Given the description of an element on the screen output the (x, y) to click on. 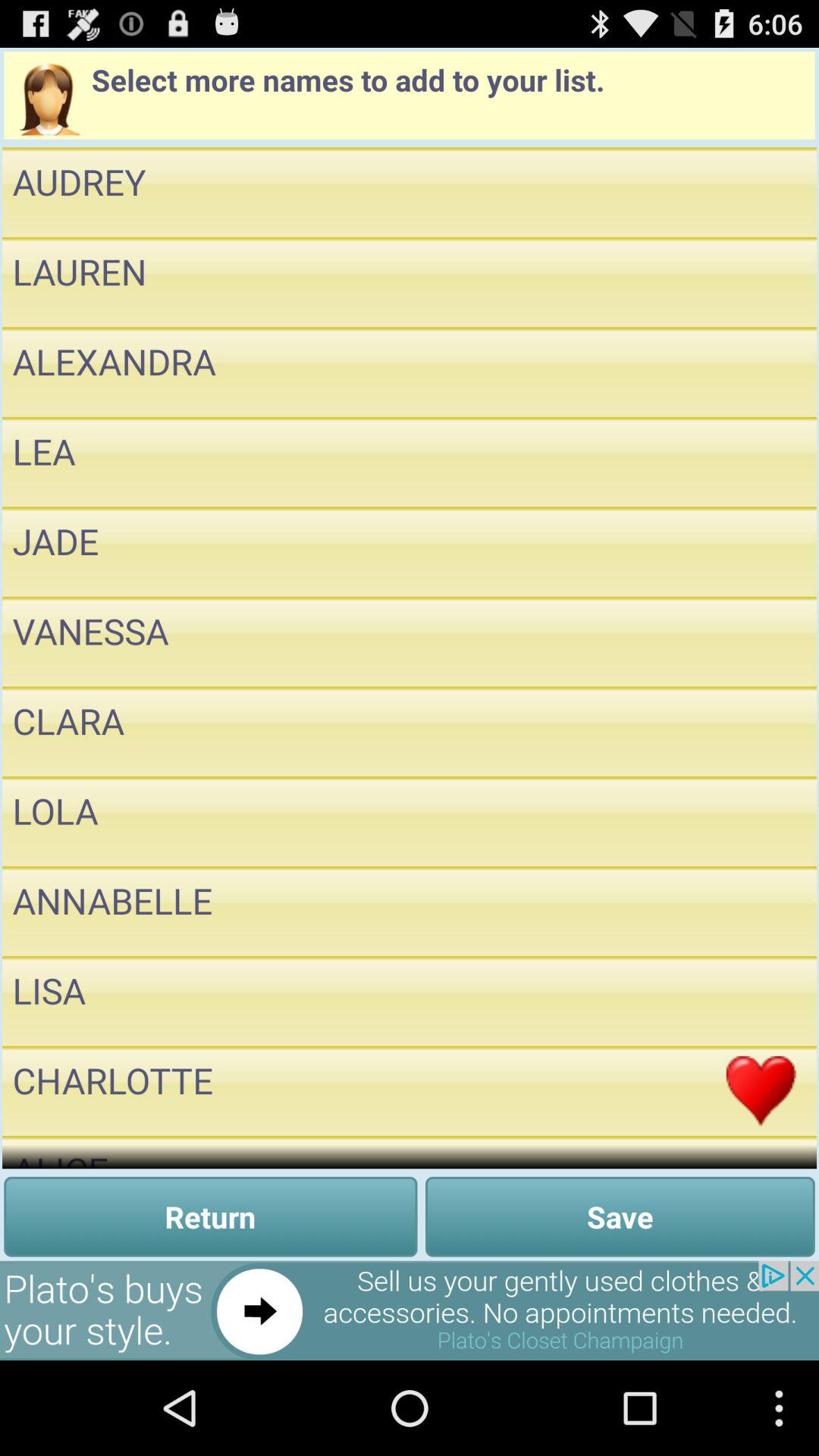
add to favorites (761, 1001)
